Given the description of an element on the screen output the (x, y) to click on. 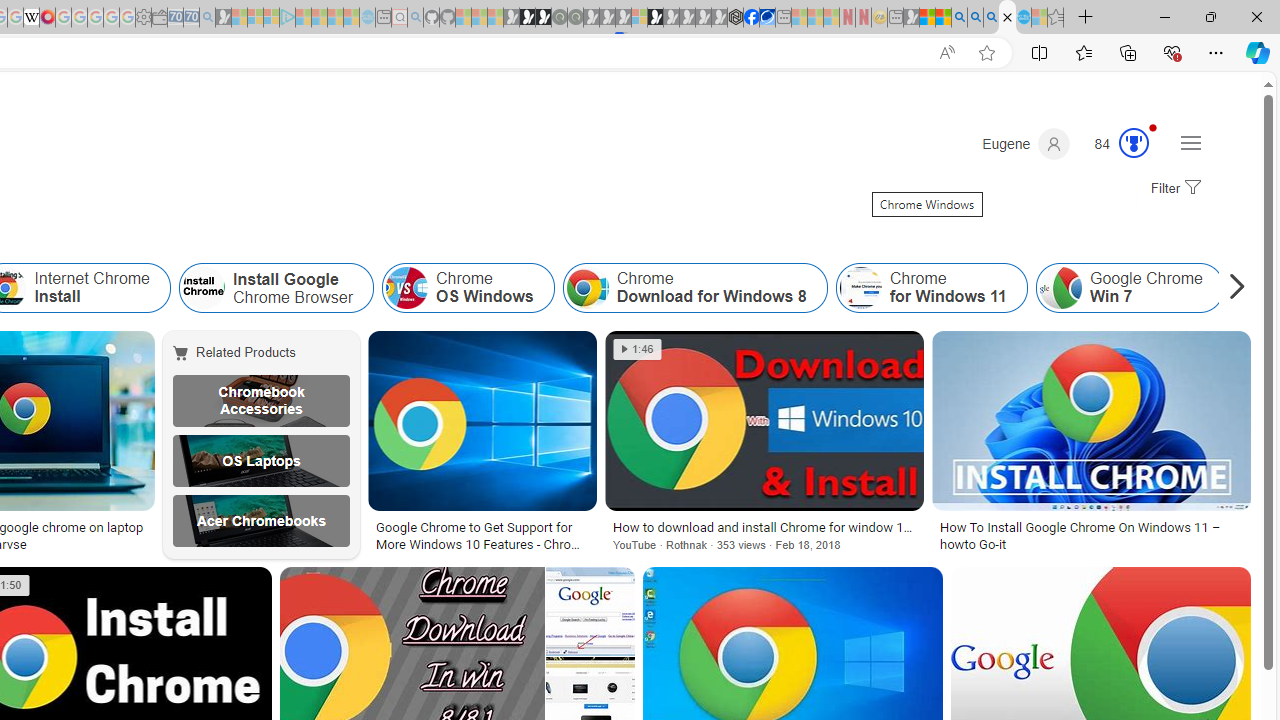
Class: item col (1129, 287)
Nordace | Facebook (751, 17)
Acer Chromebooks (260, 521)
Microsoft Start - Sleeping (335, 17)
